Given the description of an element on the screen output the (x, y) to click on. 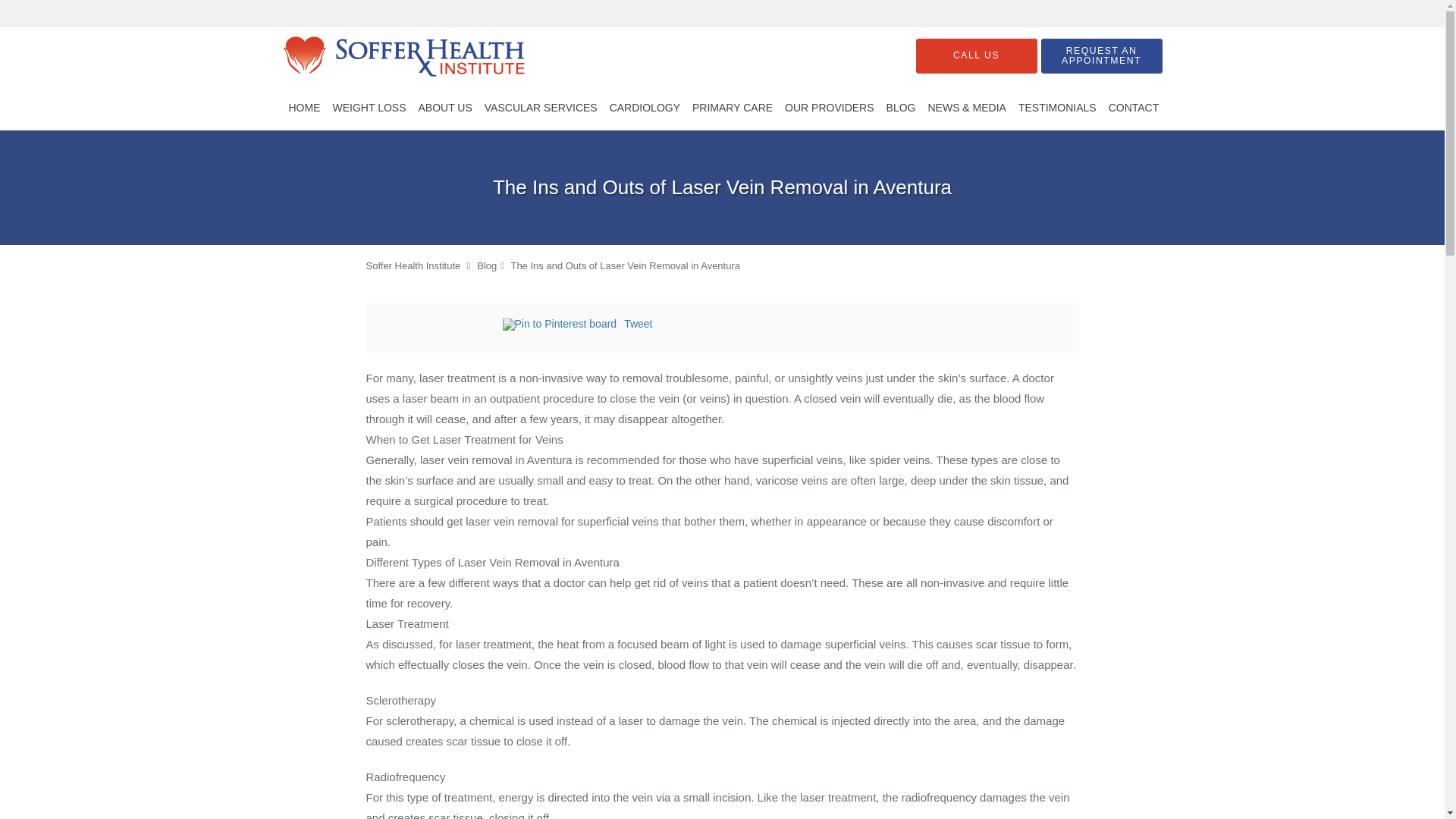
CONTACT (1134, 107)
CARDIOLOGY (644, 107)
PRIMARY CARE (731, 107)
Tweet (638, 323)
REQUEST AN APPOINTMENT (1101, 55)
Facebook social button (441, 326)
Blog (486, 265)
Soffer Health Institute (412, 265)
ABOUT US (444, 107)
The Ins and Outs of Laser Vein Removal in Aventura (625, 265)
